Given the description of an element on the screen output the (x, y) to click on. 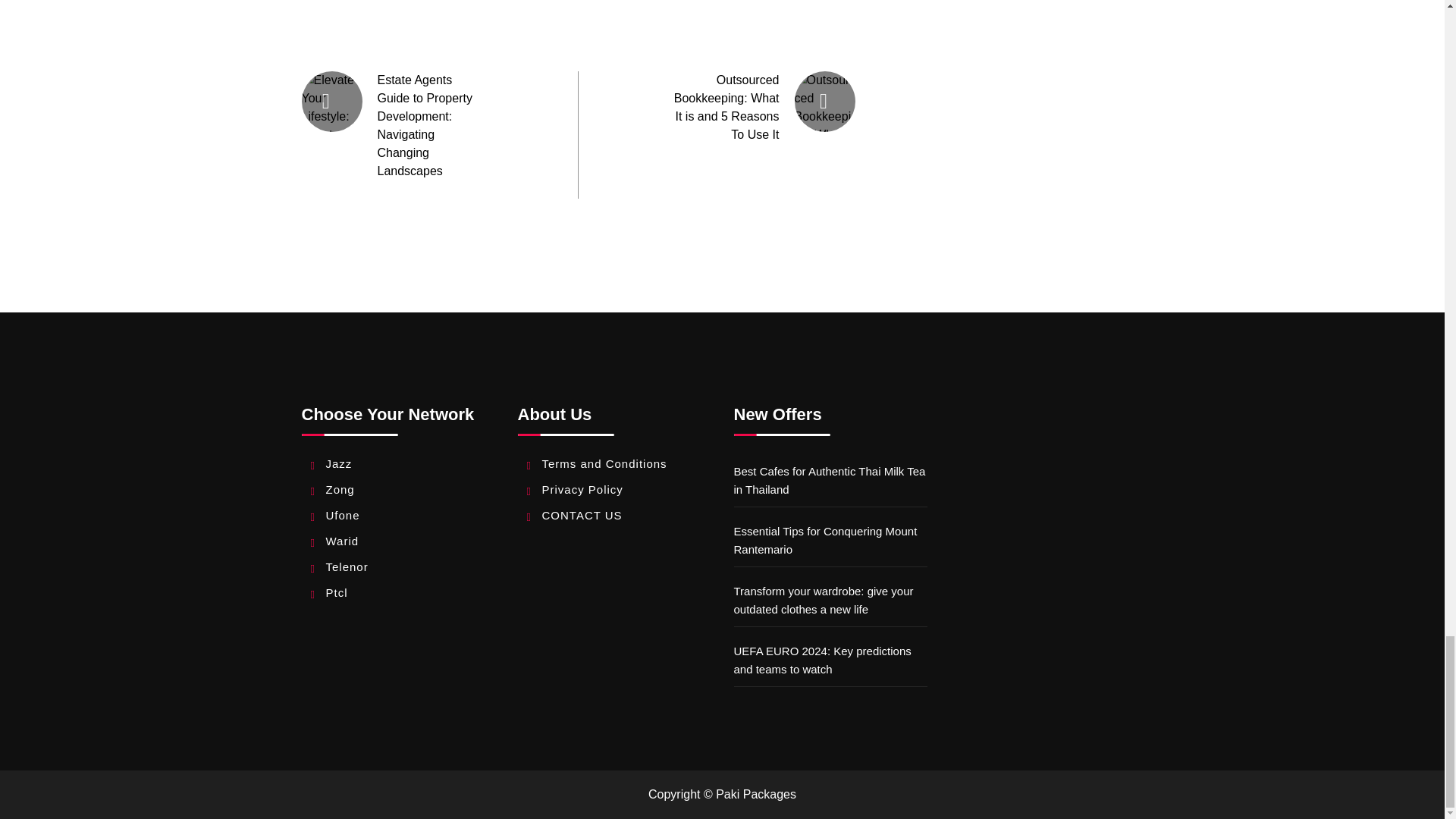
Outsourced Bookkeeping: What It is and 5 Reasons To Use It (726, 106)
